Given the description of an element on the screen output the (x, y) to click on. 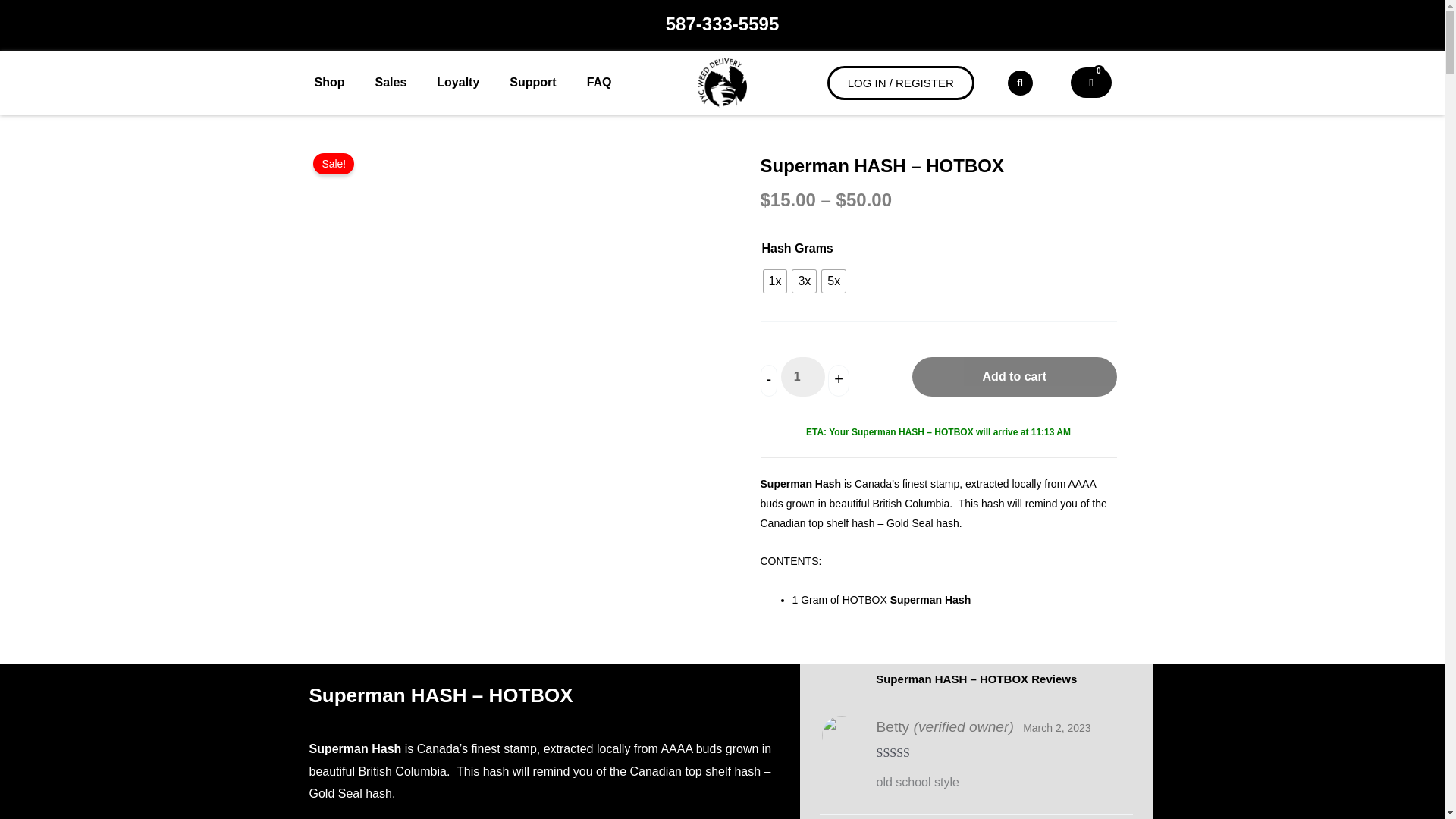
YYCWD-Logo-Black.png (721, 82)
3x (803, 281)
1x (774, 281)
5x (833, 281)
1 (802, 376)
